Given the description of an element on the screen output the (x, y) to click on. 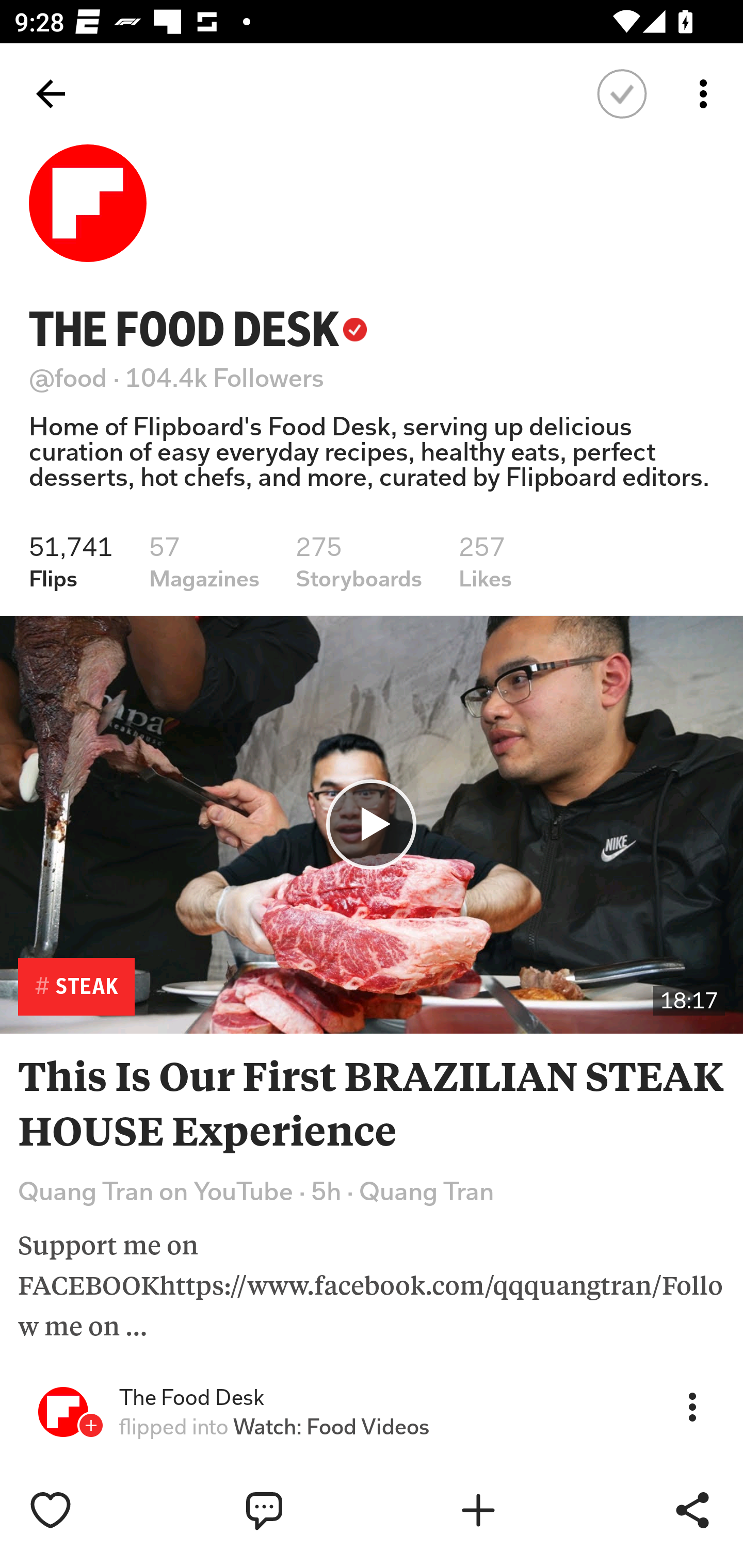
Back (50, 93)
More options (706, 93)
Following (622, 93)
THE FOOD DESK (197, 328)
@food (67, 377)
104.4k Followers (224, 377)
51,741 Flips (70, 562)
57 Magazines (203, 562)
275 Storyboards (358, 562)
257 Likes (485, 562)
# STEAK (75, 987)
More (692, 1406)
The Food Desk (191, 1397)
flipped into Watch: Food Videos (273, 1426)
Like (93, 1509)
Write a comment… (307, 1509)
Flip into Magazine (521, 1509)
Share (692, 1509)
